Given the description of an element on the screen output the (x, y) to click on. 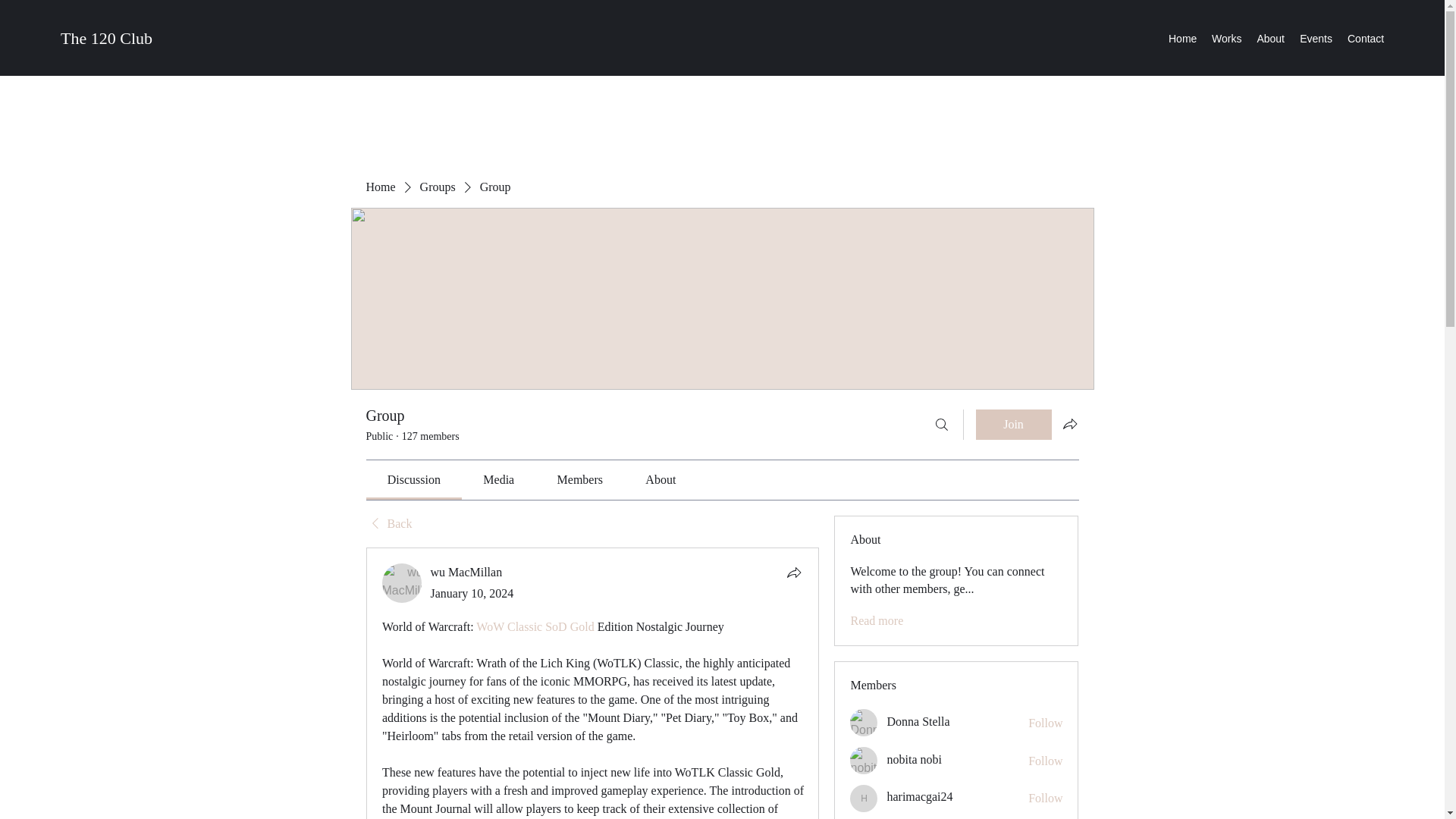
January 10, 2024 (471, 593)
Follow (1044, 798)
Works (1226, 38)
Read more (876, 620)
harimacgai24 (919, 796)
Back (388, 523)
Follow (1044, 760)
nobita nobi (913, 758)
harimacgai24 (919, 796)
Contact (1365, 38)
